Given the description of an element on the screen output the (x, y) to click on. 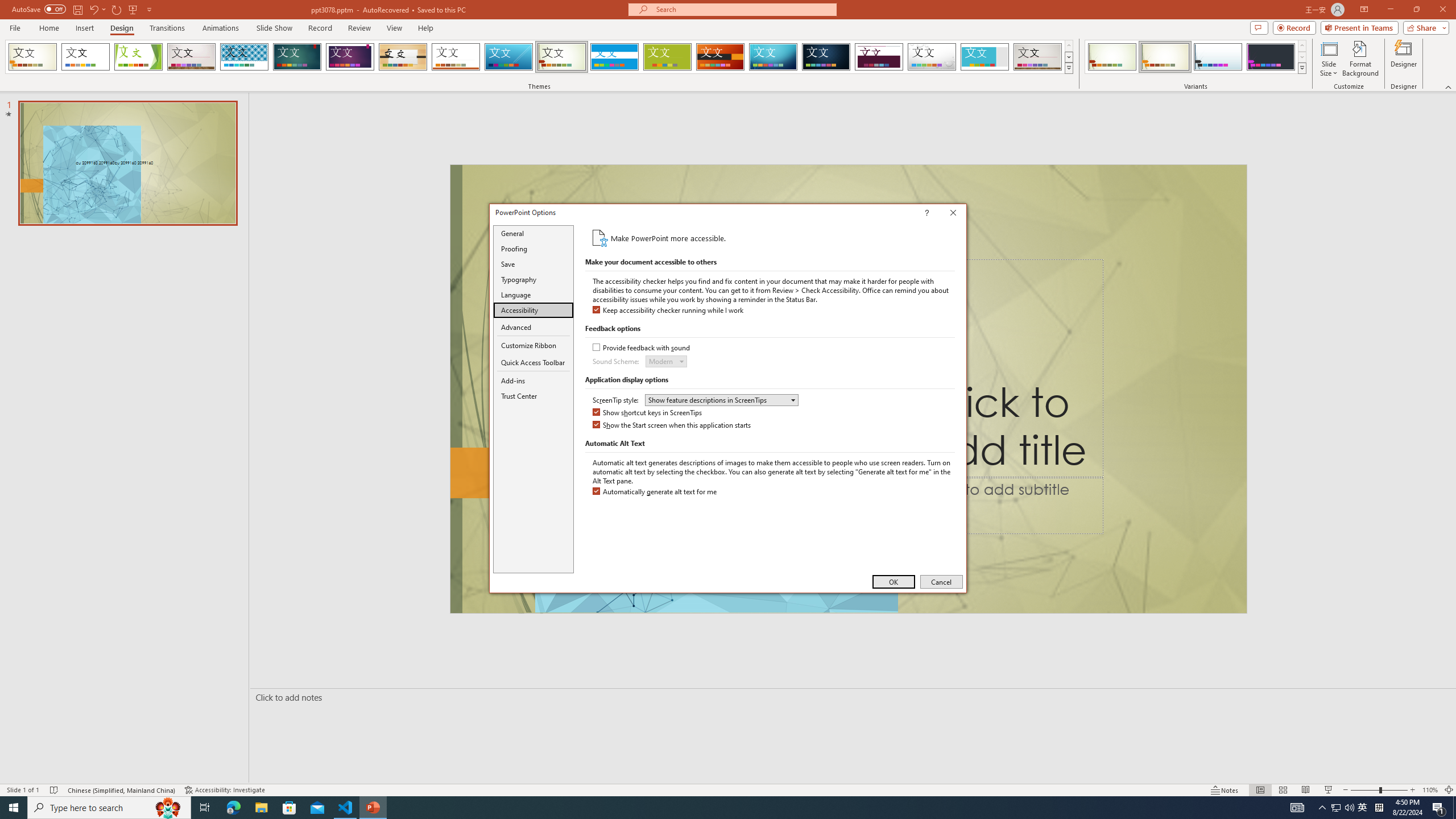
Add-ins (533, 380)
Banded Loading Preview... (614, 56)
Retrospect Loading Preview... (455, 56)
Provide feedback with sound (641, 348)
